Given the description of an element on the screen output the (x, y) to click on. 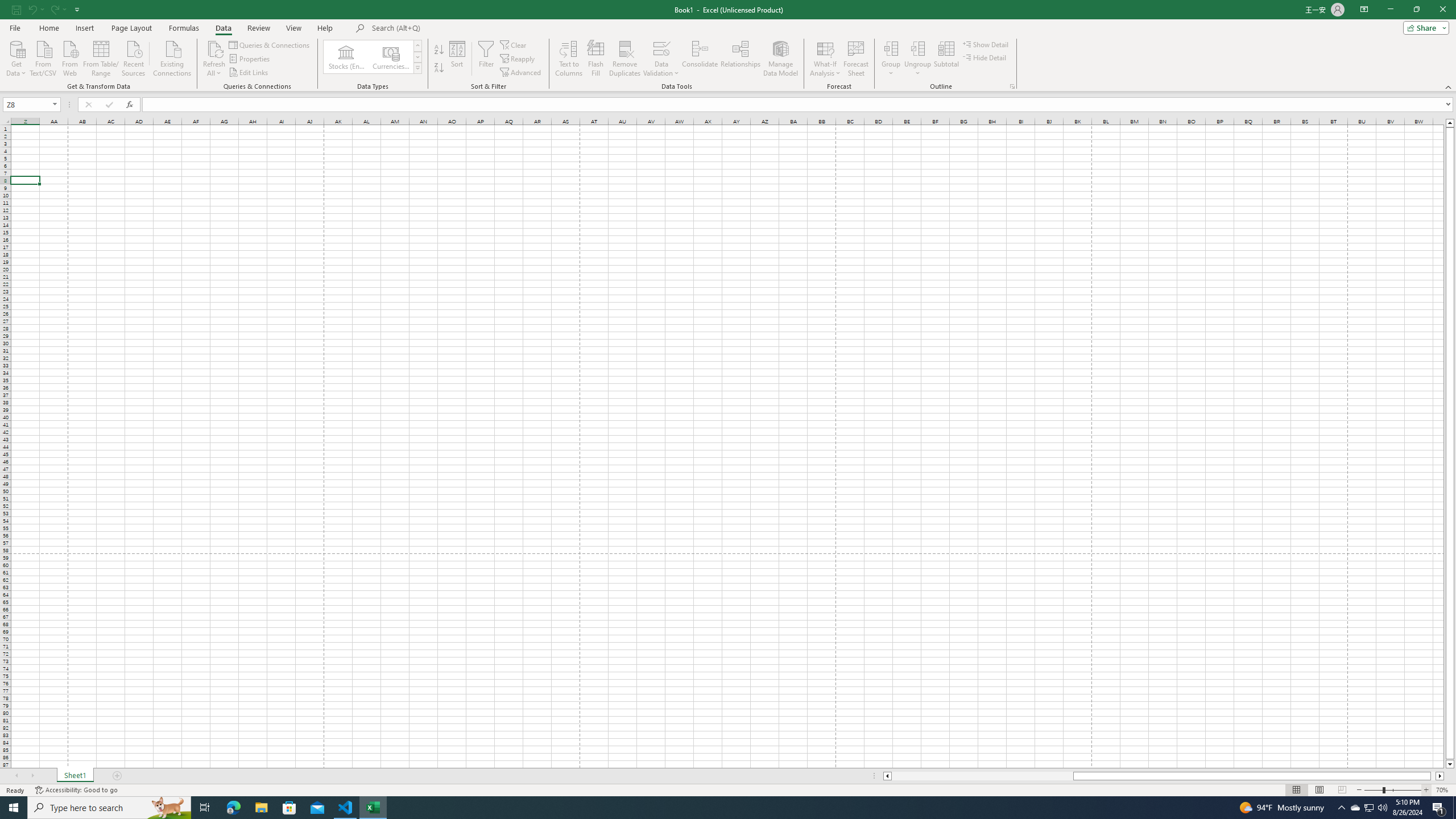
Forecast Sheet (856, 58)
Existing Connections (171, 57)
Page left (982, 775)
Queries & Connections (270, 44)
Get Data (16, 57)
Properties (250, 58)
